Given the description of an element on the screen output the (x, y) to click on. 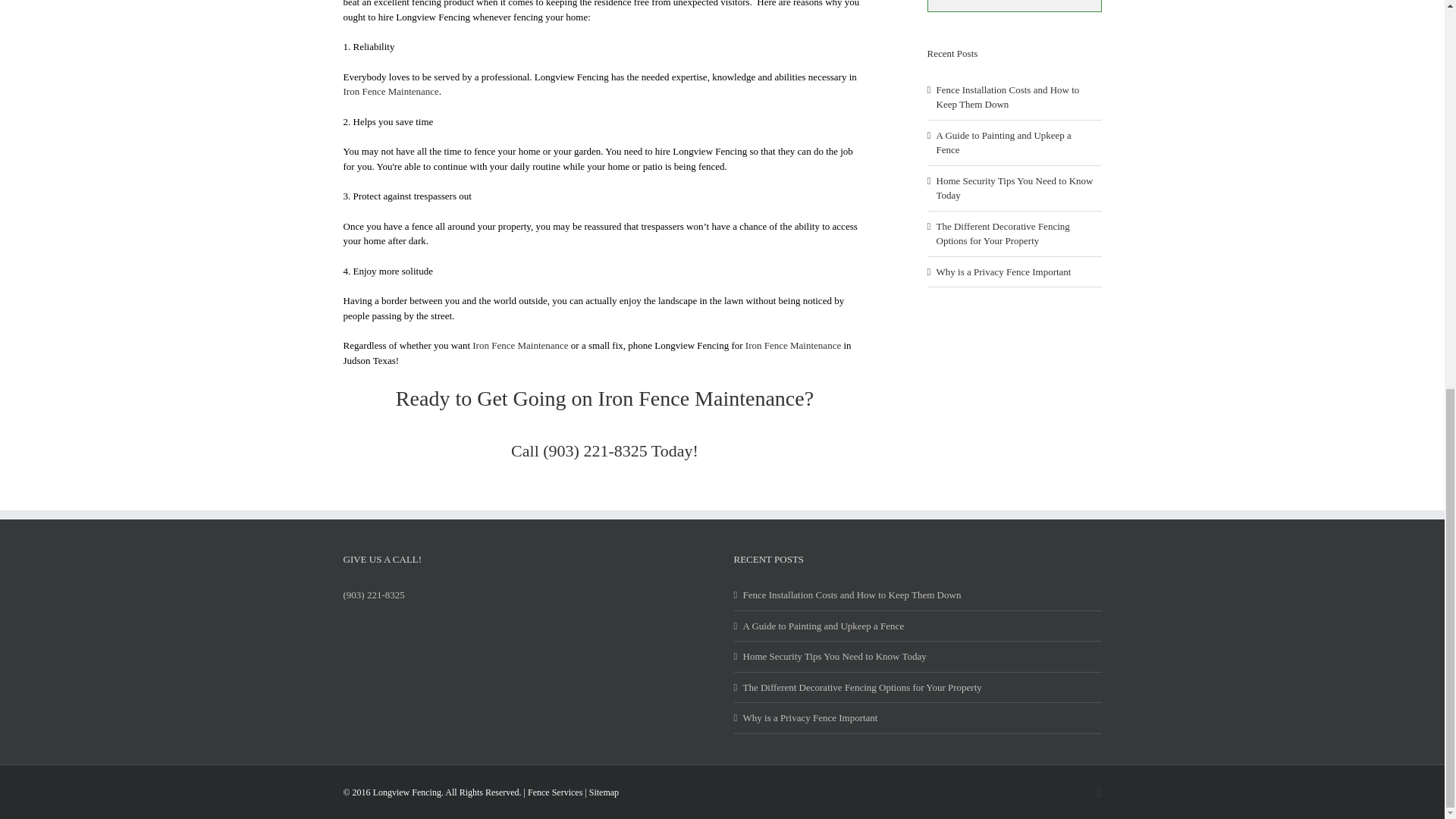
Iron Fence Maintenance (793, 345)
Fence Services (554, 792)
Home Security Tips You Need to Know Today (918, 656)
A Guide to Painting and Upkeep a Fence (1003, 142)
Why is a Privacy Fence Important (918, 717)
Why is a Privacy Fence Important (1003, 271)
Iron Fence Maintenance (701, 398)
The Different Decorative Fencing Options for Your Property (1002, 233)
Iron Fence Maintenance (519, 345)
Fence Installation Costs and How to Keep Them Down (918, 595)
